Given the description of an element on the screen output the (x, y) to click on. 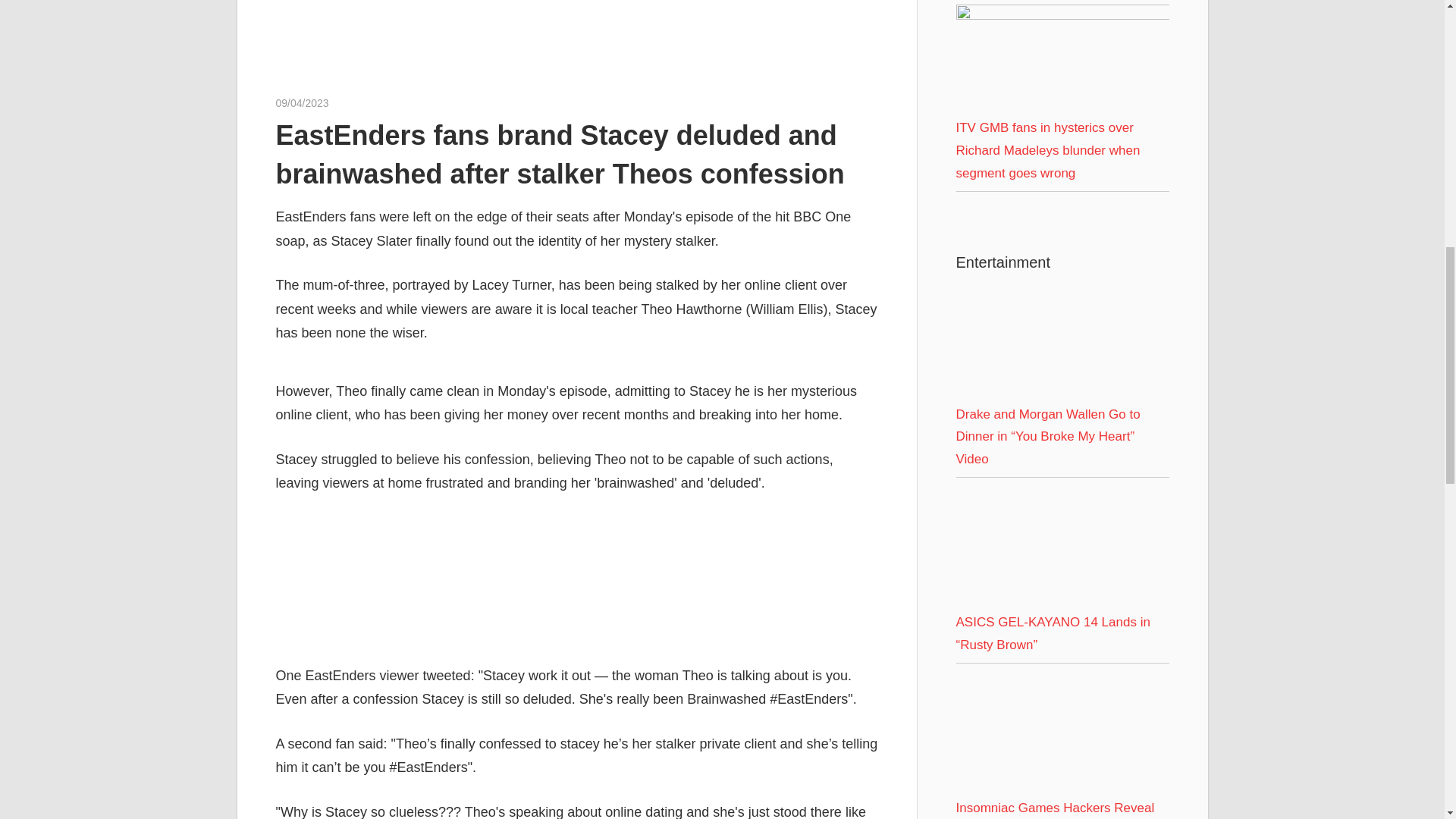
22:29 (302, 102)
